Given the description of an element on the screen output the (x, y) to click on. 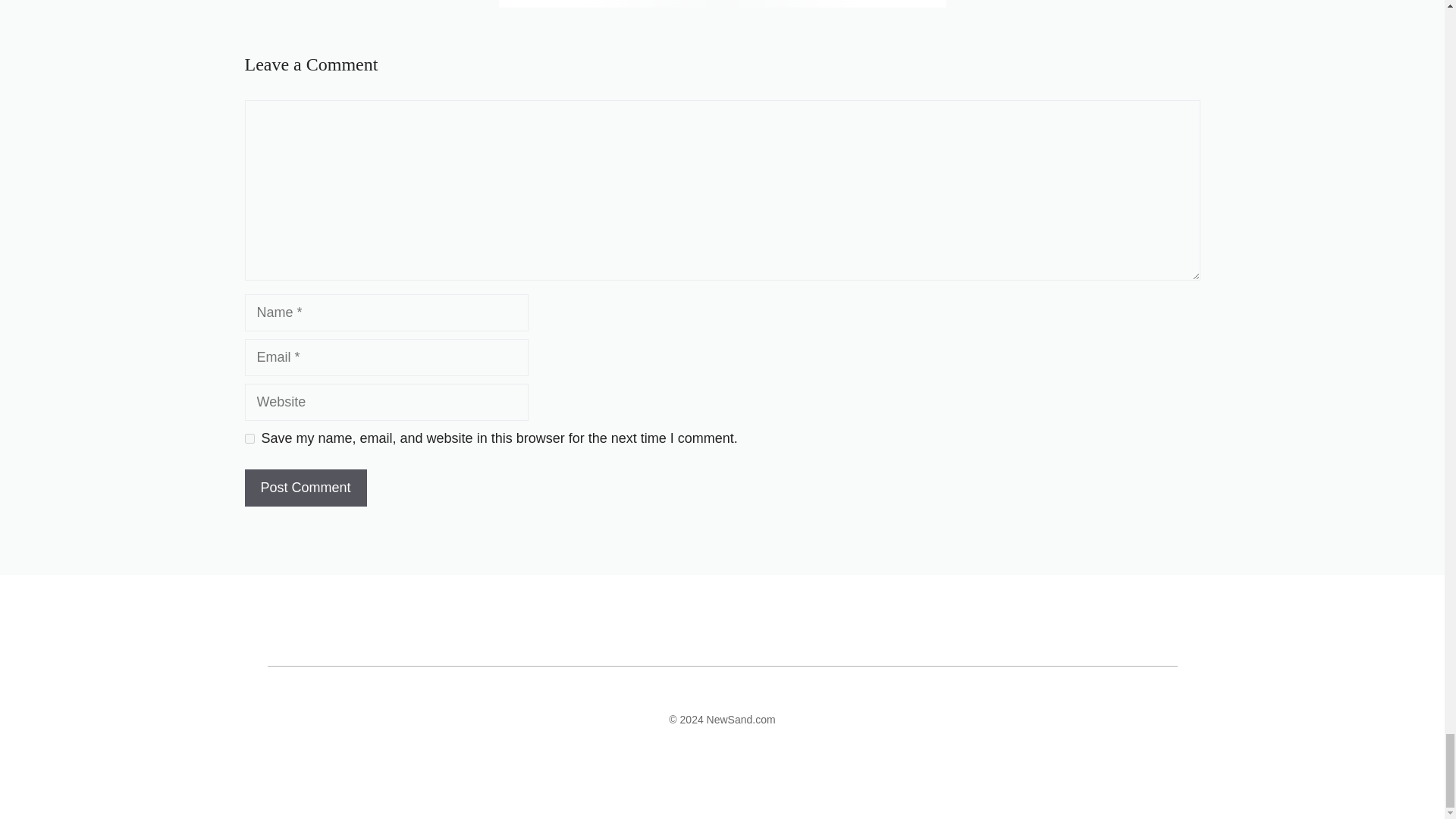
Post Comment (305, 487)
Post Comment (305, 487)
yes (248, 438)
